Given the description of an element on the screen output the (x, y) to click on. 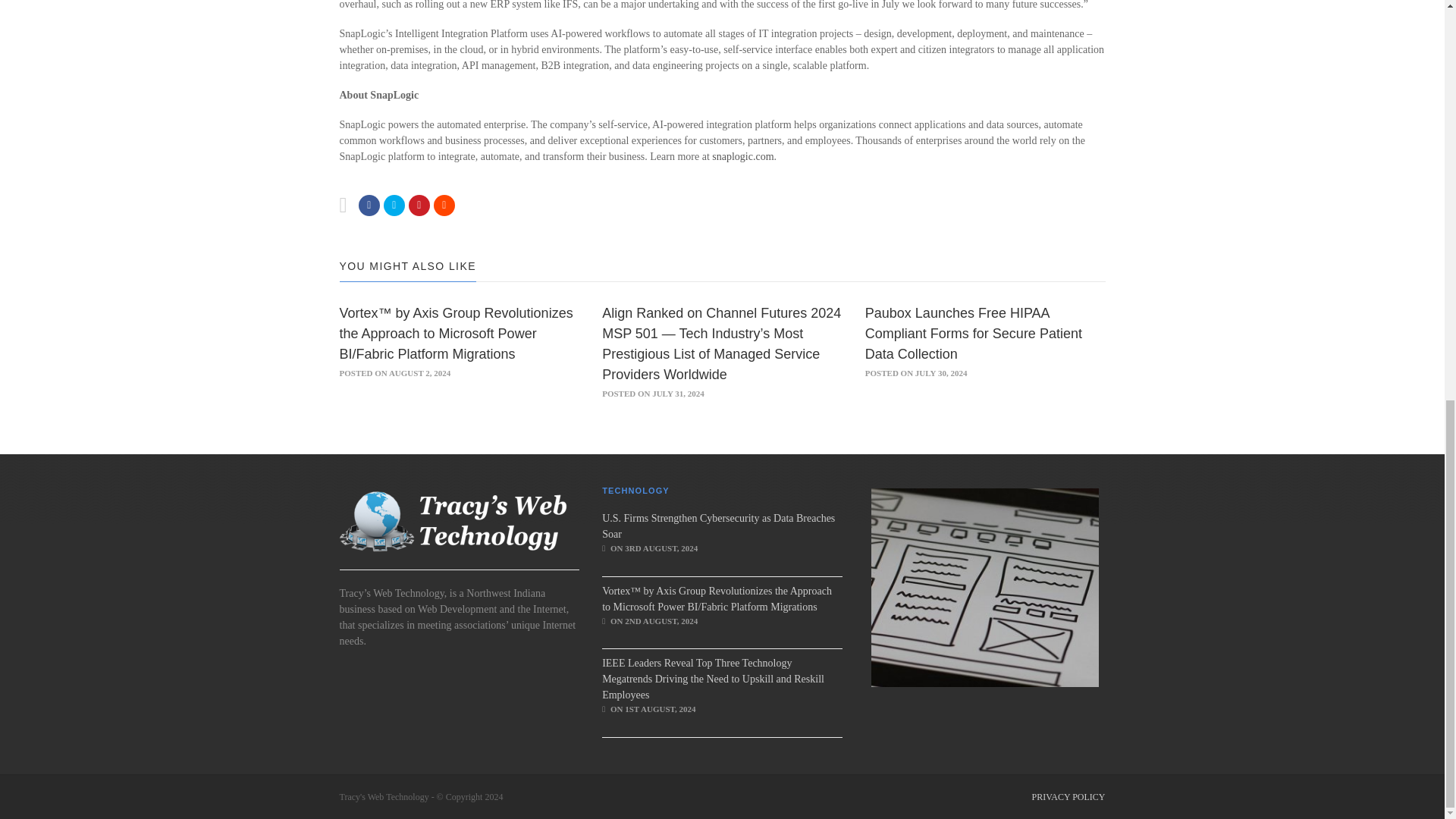
U.S. Firms Strengthen Cybersecurity as Data Breaches Soar (718, 525)
Submit to Reddit (443, 204)
snaplogic.com (742, 155)
Submit to Reddit (419, 204)
Share on Facebook (369, 204)
Tweet (394, 204)
